Given the description of an element on the screen output the (x, y) to click on. 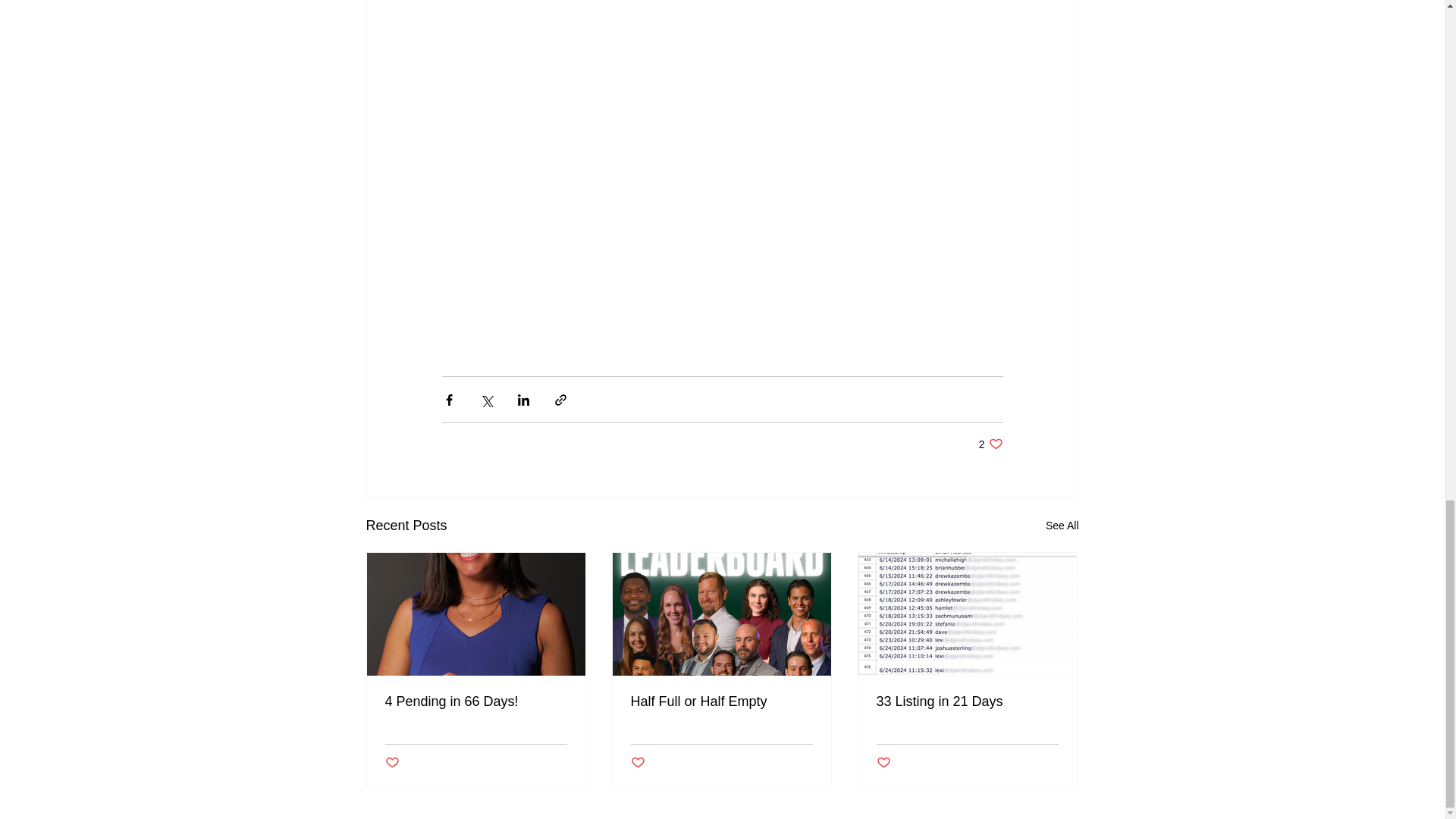
33 Listing in 21 Days (967, 701)
4 Pending in 66 Days! (476, 701)
Post not marked as liked (883, 763)
Half Full or Half Empty (990, 443)
Post not marked as liked (721, 701)
Post not marked as liked (391, 763)
See All (637, 763)
